Given the description of an element on the screen output the (x, y) to click on. 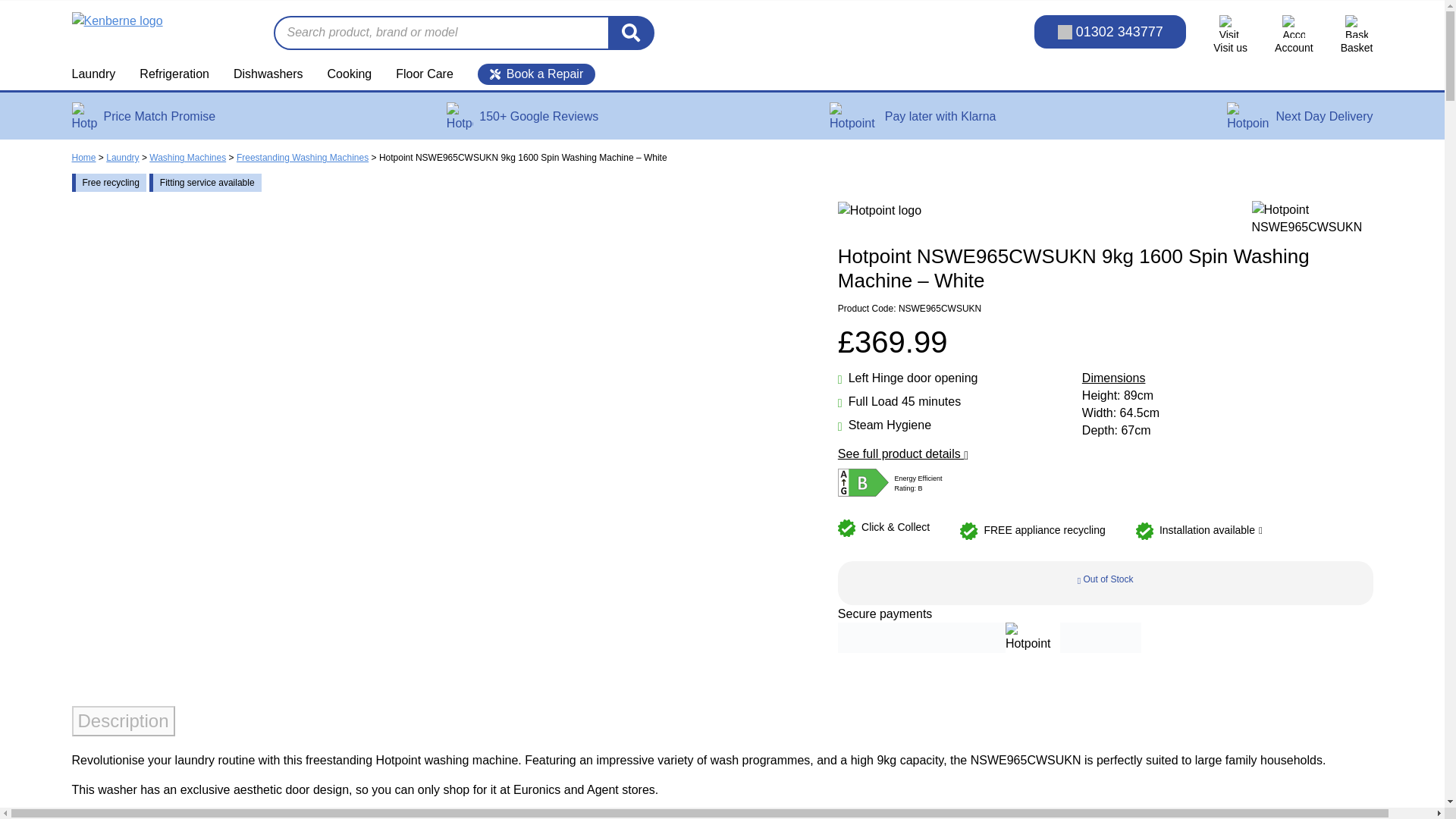
01302 343777 (1109, 31)
Laundry (99, 73)
Visit us (1229, 35)
Basket (1356, 35)
Visit us (1229, 35)
My account (1294, 35)
Laundry (99, 73)
Refrigeration (174, 73)
Account (1294, 35)
Dishwashers (268, 73)
Cart (1356, 35)
